Given the description of an element on the screen output the (x, y) to click on. 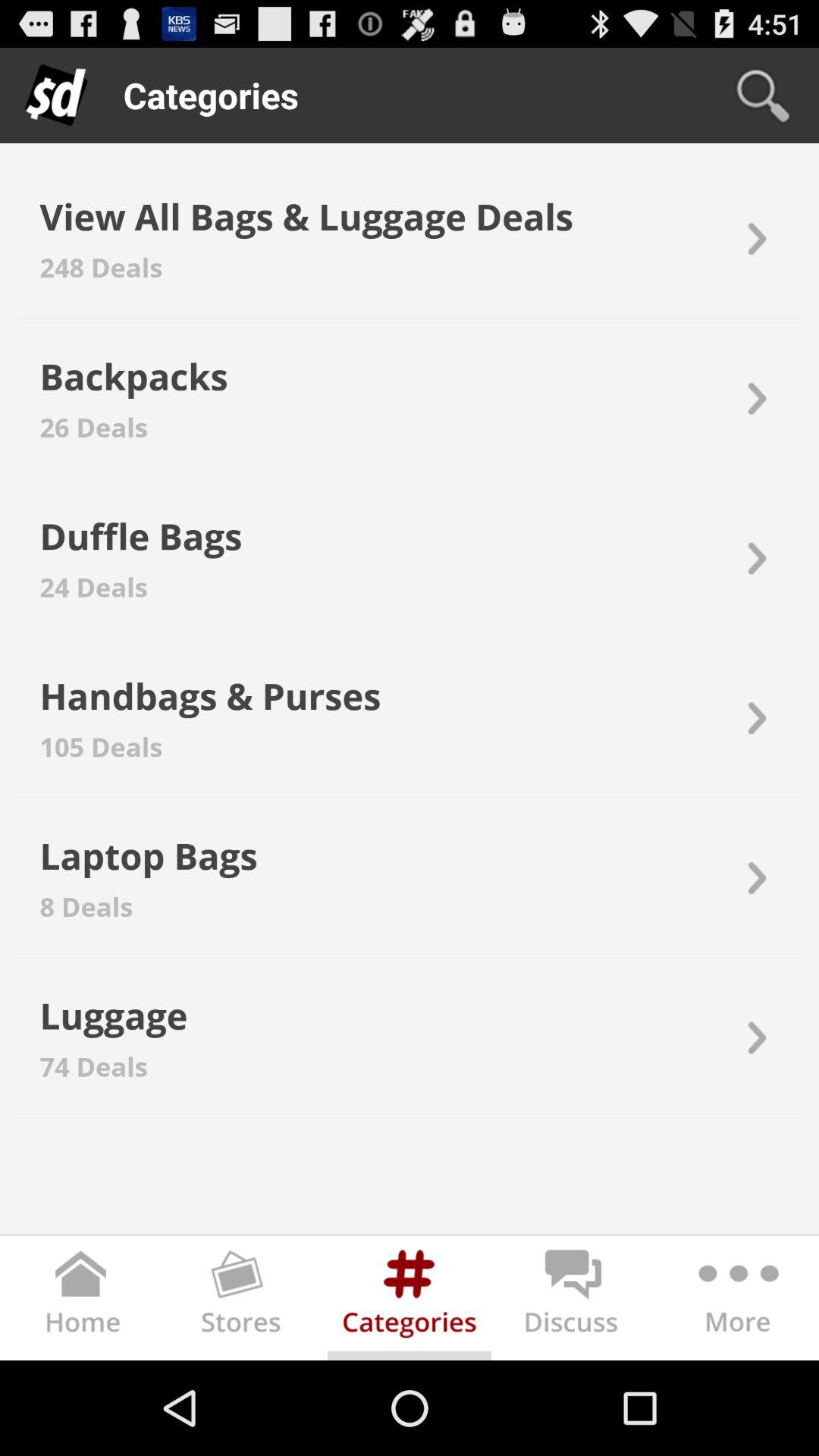
select stores (245, 1301)
